Given the description of an element on the screen output the (x, y) to click on. 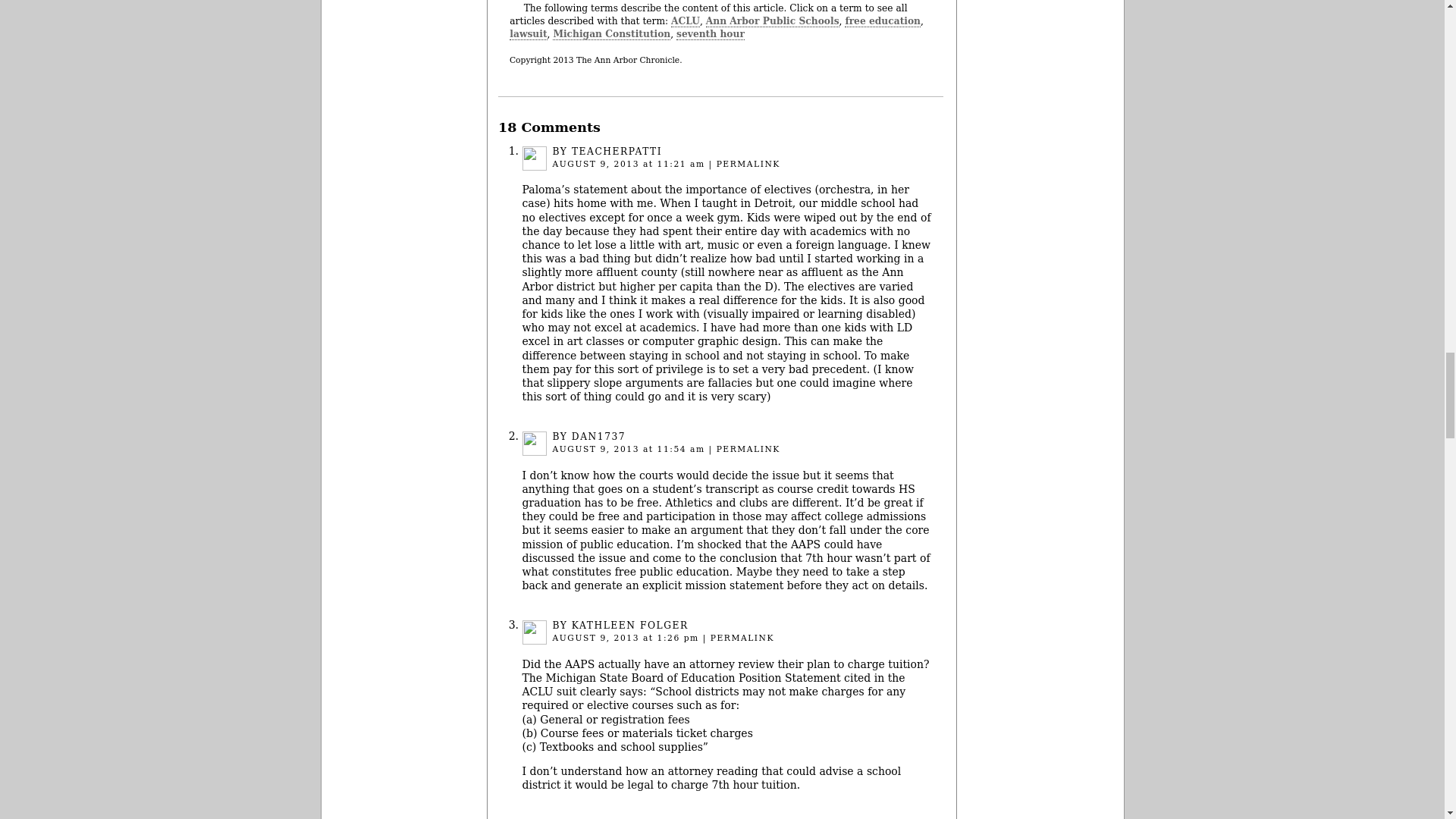
ACLU (685, 21)
PERMALINK (748, 163)
lawsuit (528, 33)
seventh hour (710, 33)
PERMALINK (742, 637)
TEACHERPATTI (617, 151)
Michigan Constitution (611, 33)
PERMALINK (748, 449)
